Given the description of an element on the screen output the (x, y) to click on. 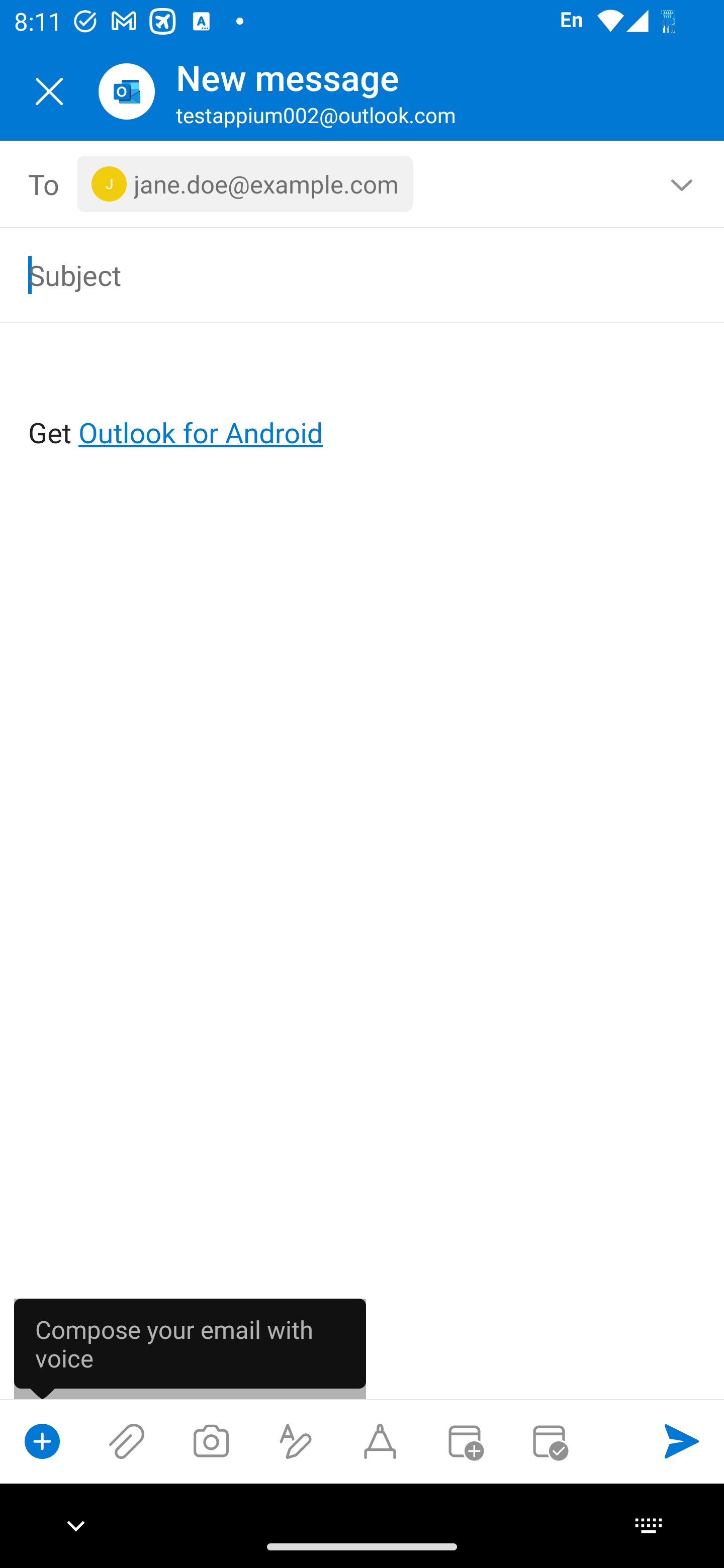
Compose your email with voice (189, 1348)
